Given the description of an element on the screen output the (x, y) to click on. 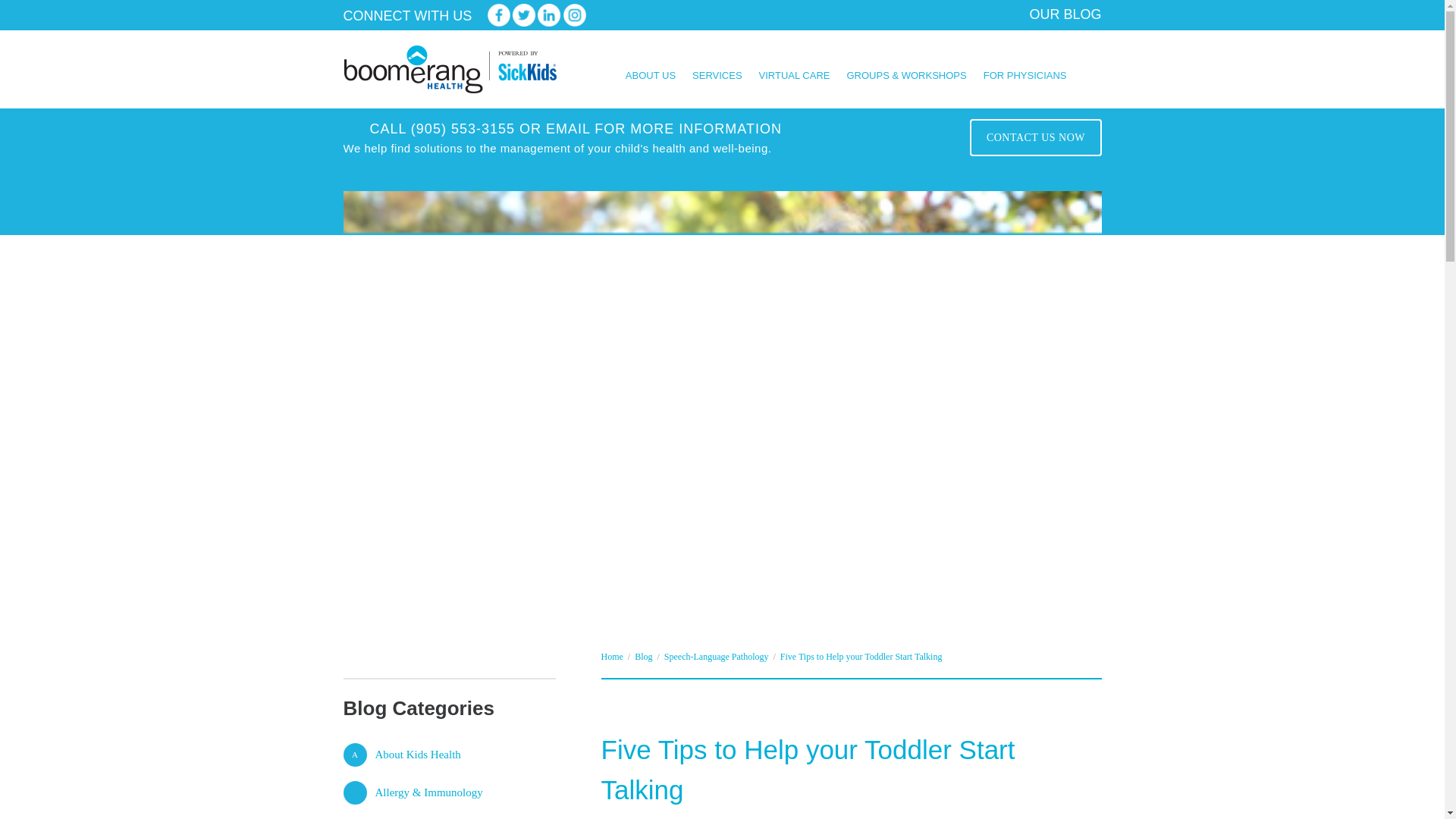
Go to the Speech-Language Pathology category archives. (715, 656)
Go to . (611, 656)
Go to the Blog category archives. (643, 656)
